Given the description of an element on the screen output the (x, y) to click on. 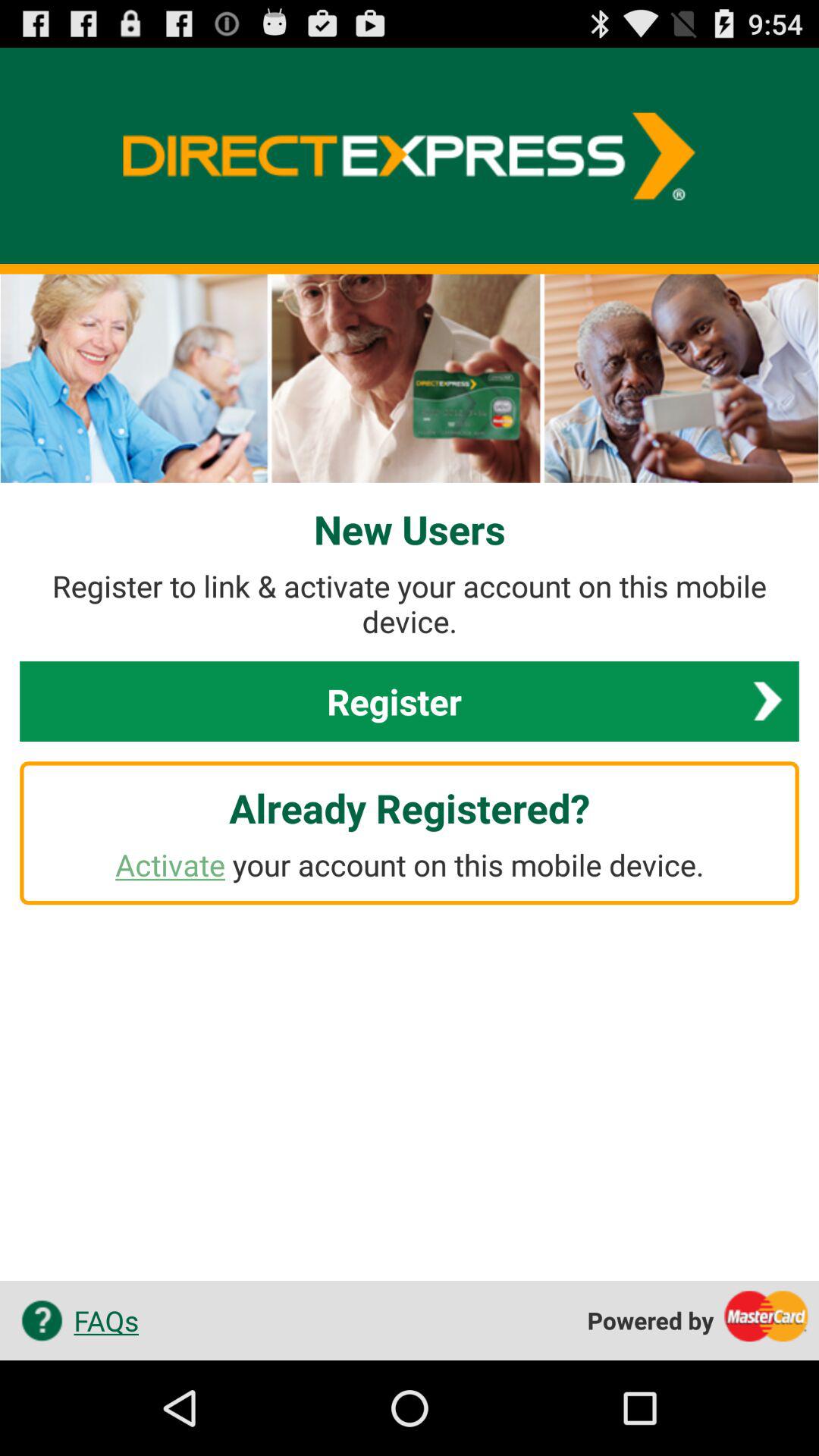
open app at the bottom left corner (74, 1320)
